Given the description of an element on the screen output the (x, y) to click on. 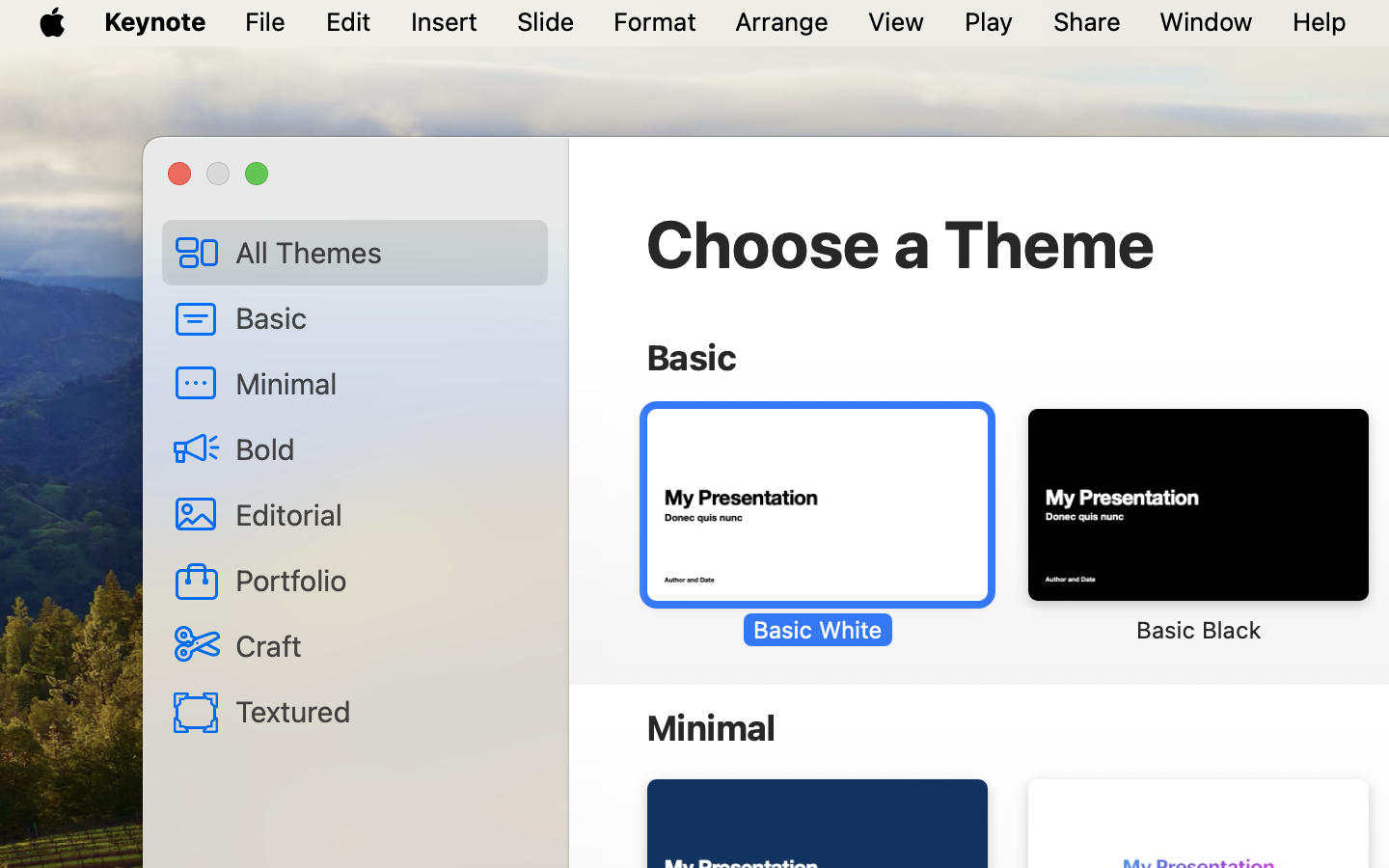
All Themes Element type: AXStaticText (383, 251)
Minimal Element type: AXStaticText (383, 382)
Bold Element type: AXStaticText (383, 448)
Craft Element type: AXStaticText (383, 644)
